Given the description of an element on the screen output the (x, y) to click on. 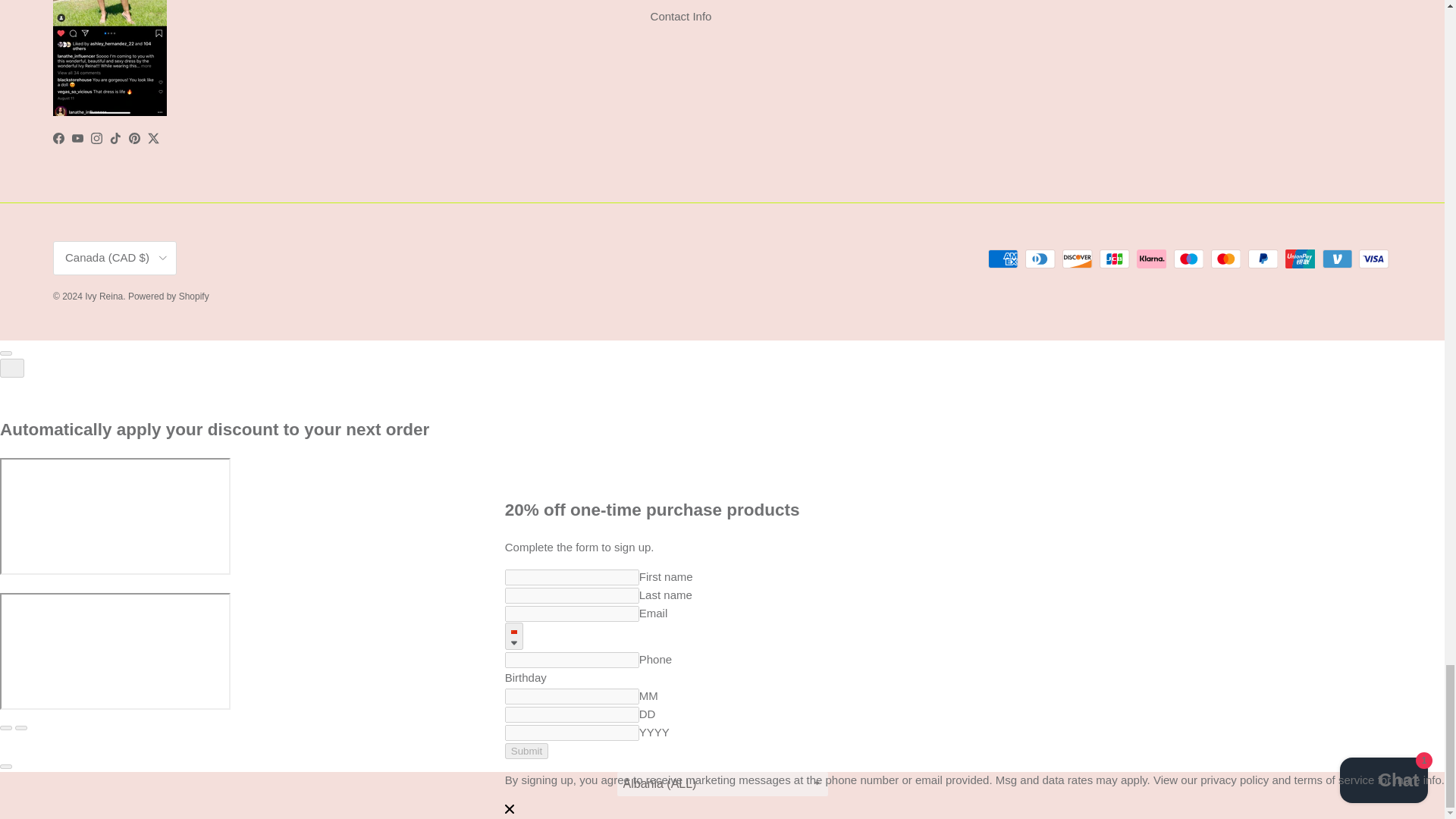
Ivy Reina on YouTube (76, 138)
Ivy Reina on Facebook (58, 138)
